Given the description of an element on the screen output the (x, y) to click on. 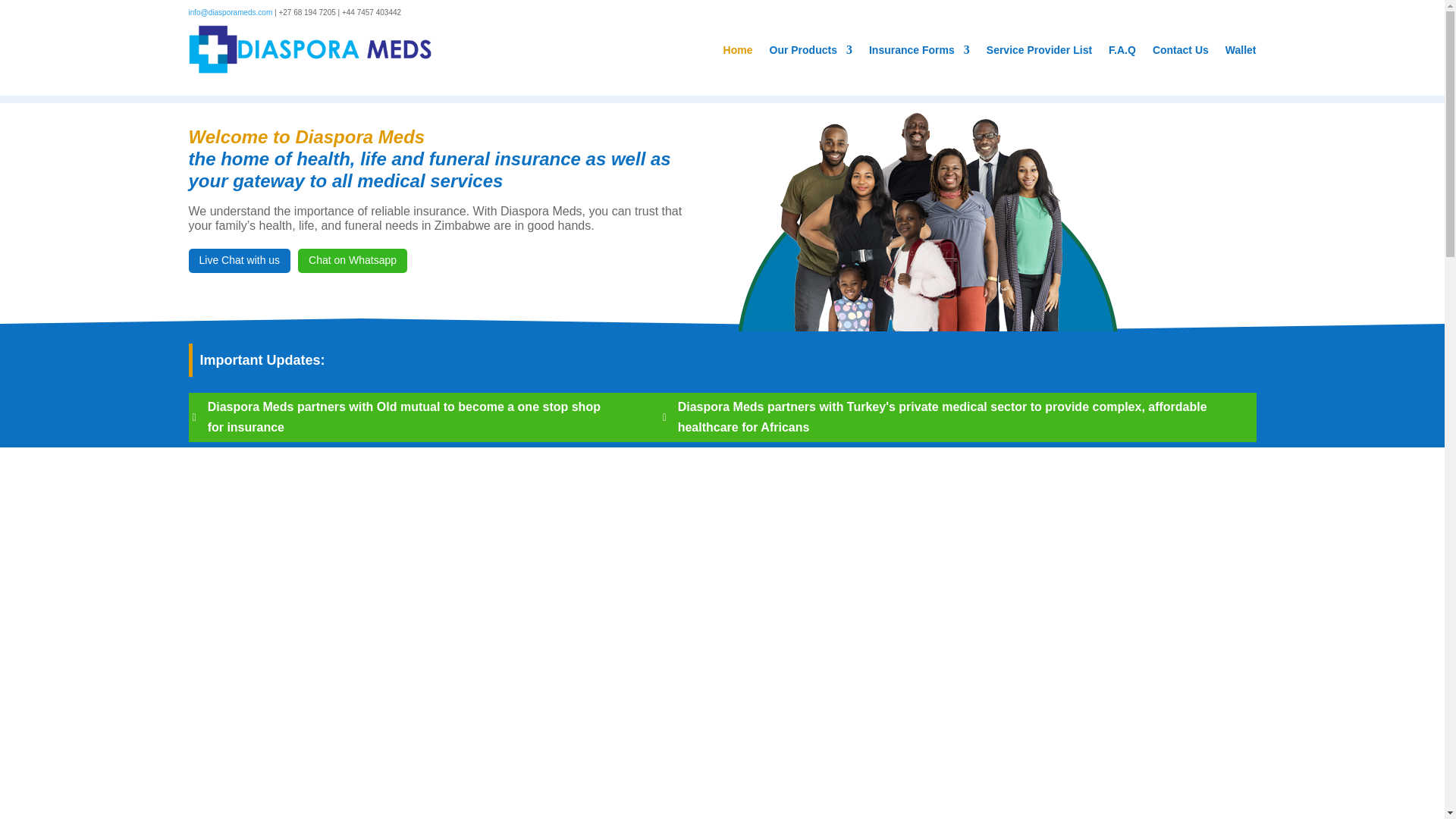
Live Chat with us (238, 260)
Service Provider List (1039, 49)
Insurance Forms (919, 49)
Chat on Whatsapp (352, 260)
Contact Us (1180, 49)
Our Products (809, 49)
